Given the description of an element on the screen output the (x, y) to click on. 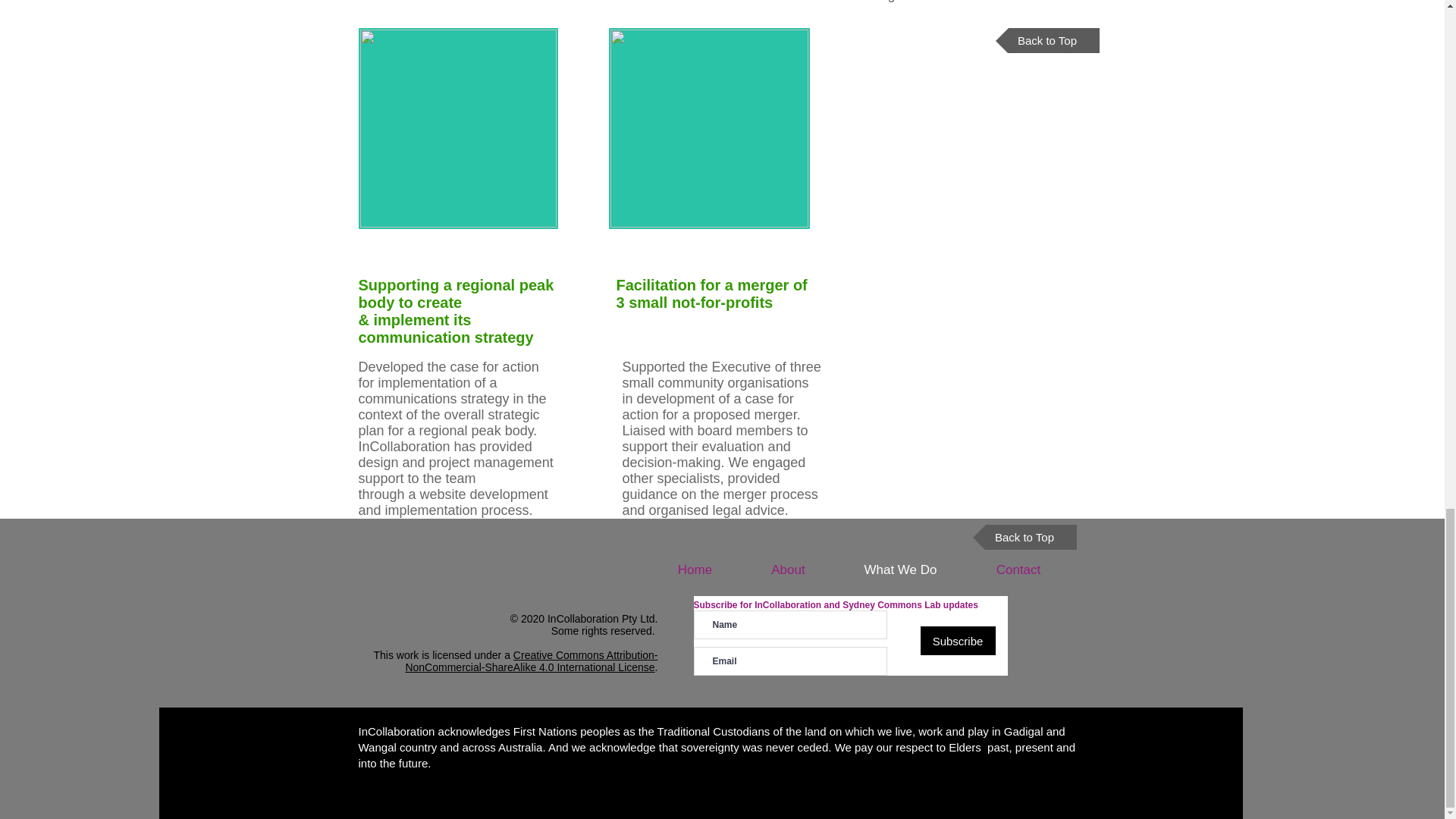
What We Do (900, 569)
Back to Top (1023, 536)
Contact (1018, 569)
About (787, 569)
Home (694, 569)
Back to Top (1046, 40)
Subscribe (957, 640)
